Given the description of an element on the screen output the (x, y) to click on. 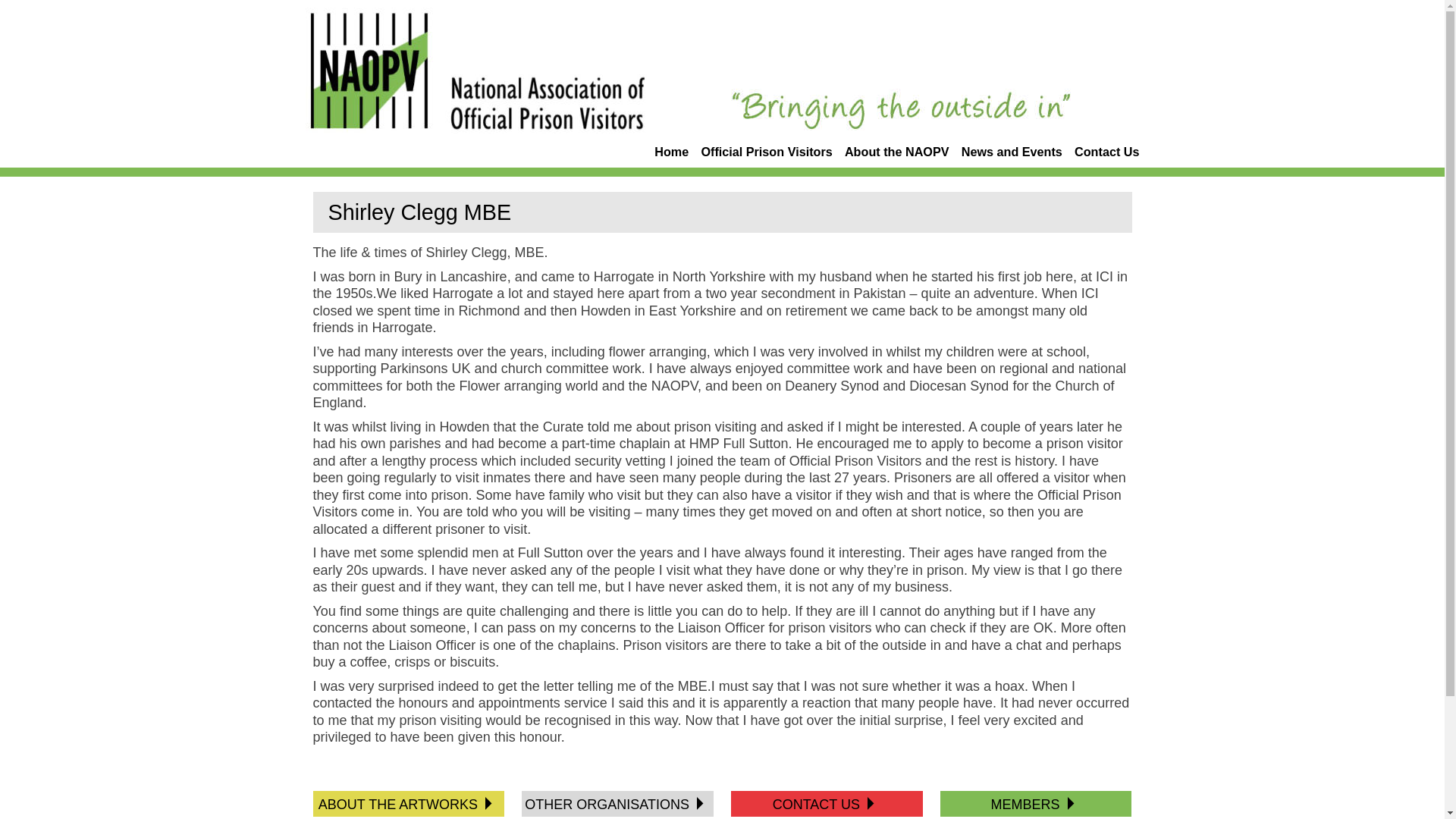
MEMBERS   (1029, 804)
OTHER ORGANISATIONS   (610, 804)
ABOUT THE ARTWORKS   (401, 804)
CONTACT US   (820, 804)
Home (670, 153)
Contact Us (1106, 153)
News and Events (1011, 153)
Official Prison Visitors (765, 153)
About the NAOPV (896, 153)
